Given the description of an element on the screen output the (x, y) to click on. 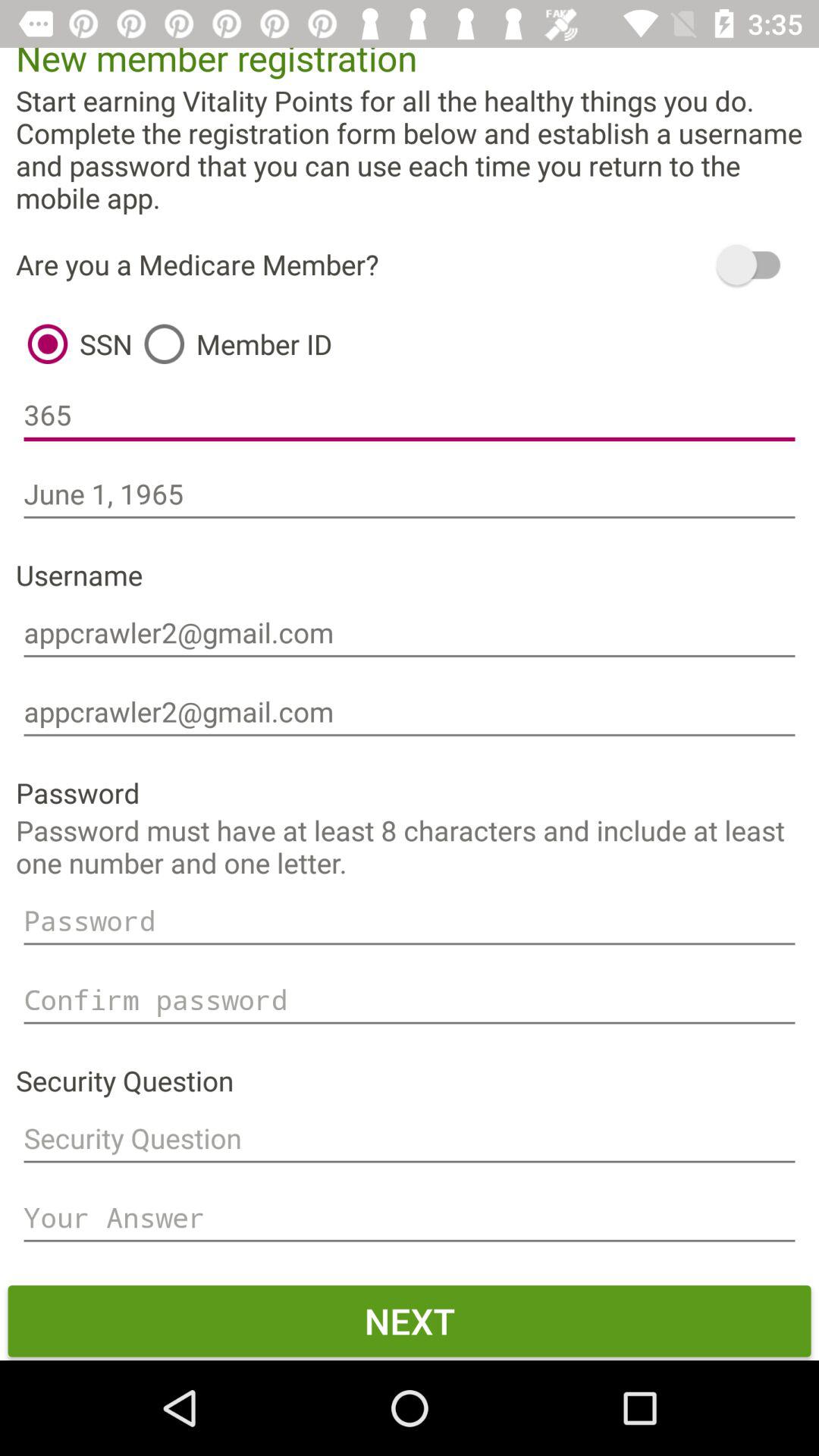
enter security question answer (409, 1217)
